Given the description of an element on the screen output the (x, y) to click on. 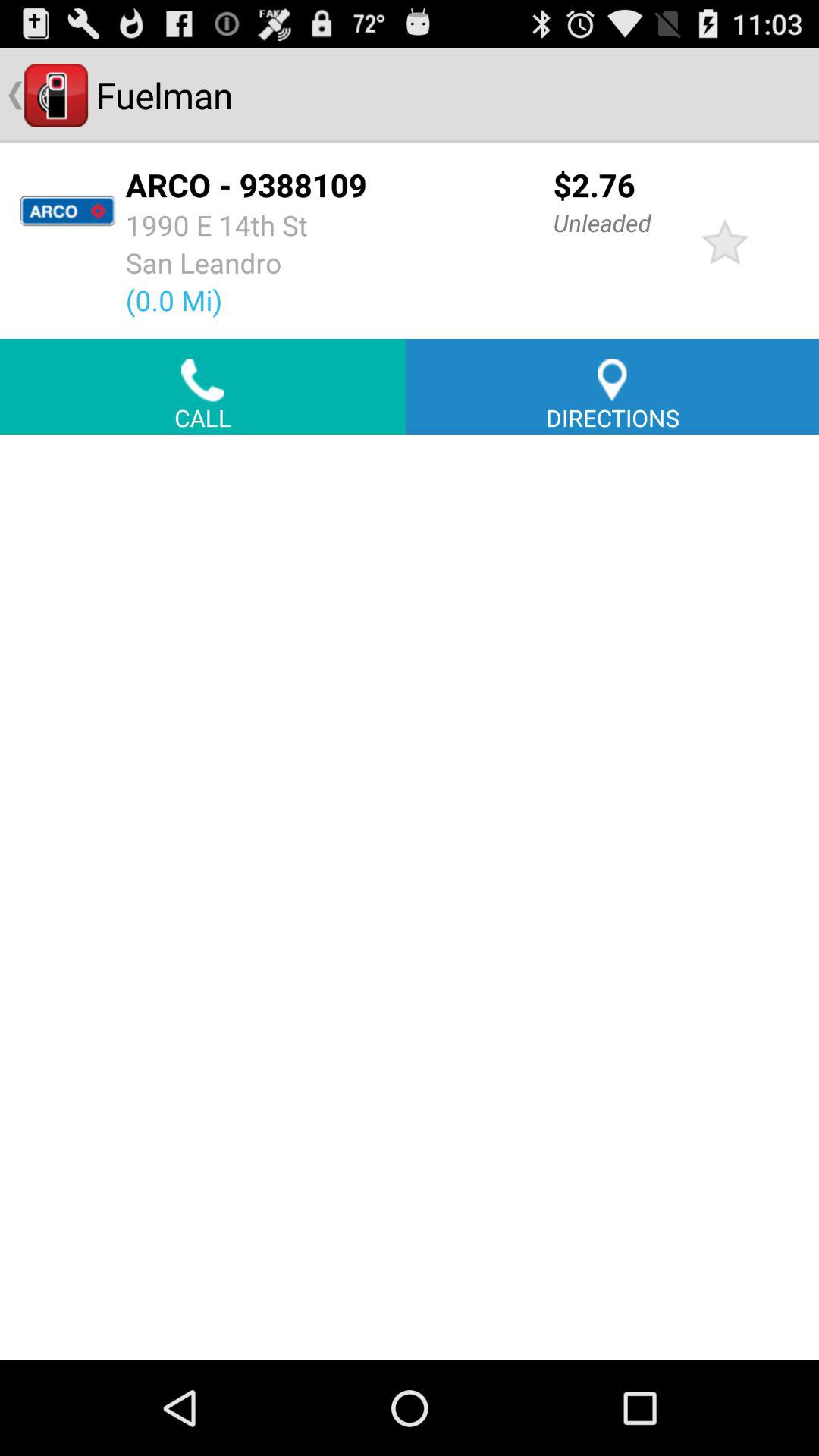
choose the button next to call icon (612, 386)
